Given the description of an element on the screen output the (x, y) to click on. 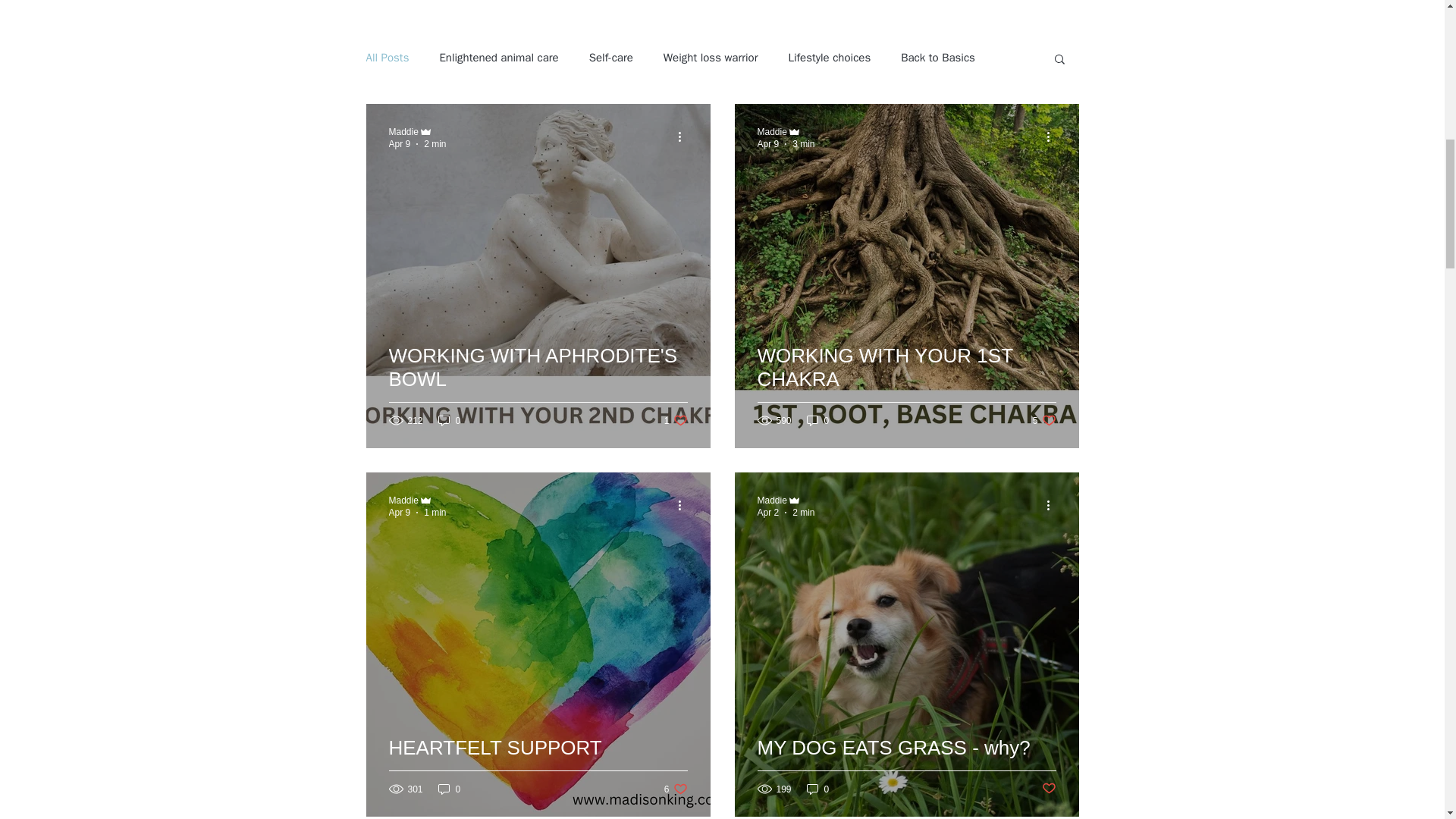
Maddie (675, 420)
0 (771, 500)
Back to Basics (818, 420)
Apr 2 (938, 57)
Maddie (767, 511)
Maddie (402, 131)
Apr 9 (416, 131)
Maddie (399, 143)
Maddie (771, 131)
Apr 9 (402, 500)
All Posts (767, 143)
WORKING WITH APHRODITE'S BOWL (387, 57)
2 min (537, 385)
Maddie (434, 143)
